Given the description of an element on the screen output the (x, y) to click on. 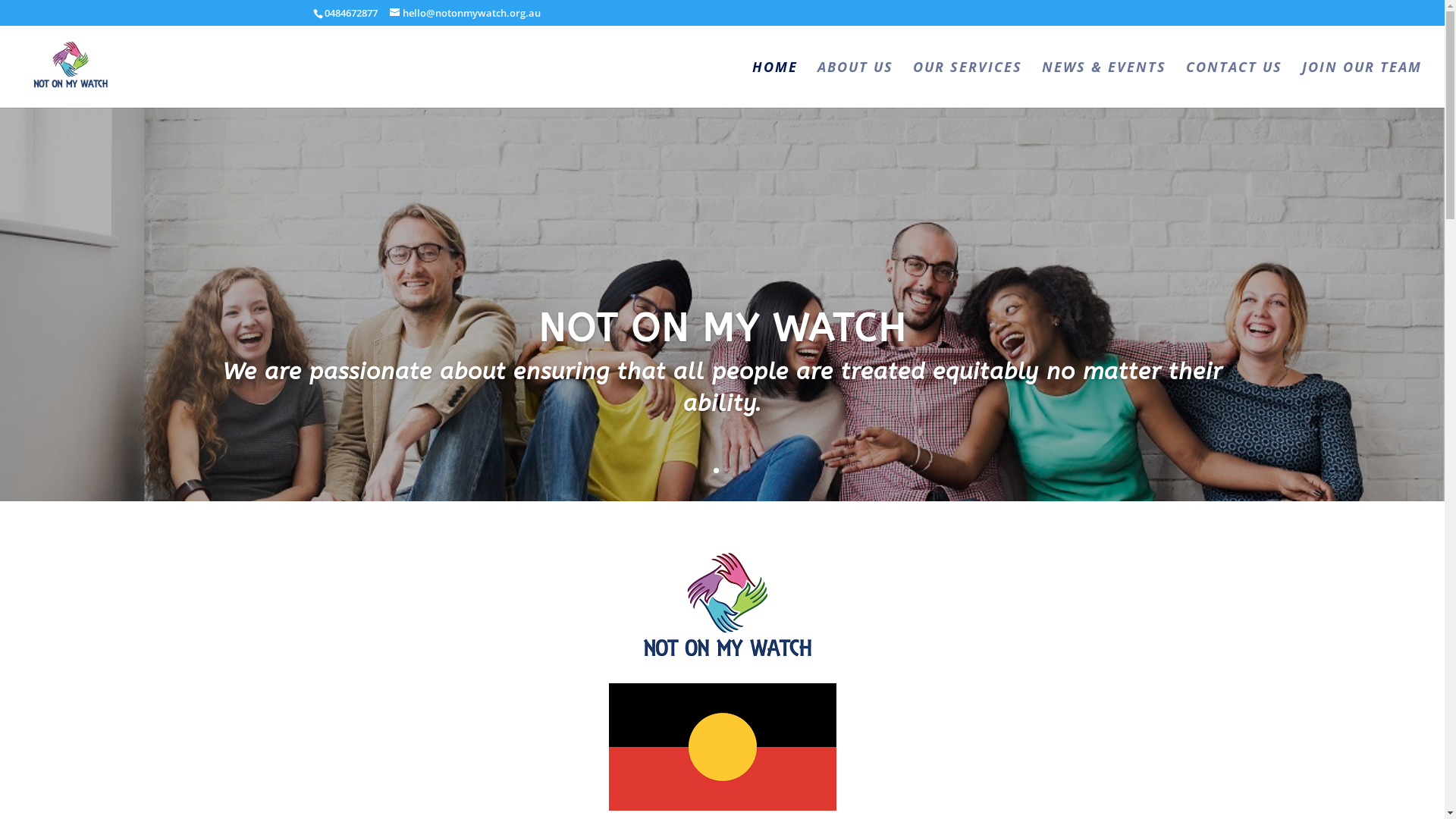
NEWS & EVENTS Element type: text (1103, 83)
HOME Element type: text (774, 83)
logo Element type: hover (722, 602)
ABOUT US Element type: text (855, 83)
CONTACT US Element type: text (1234, 83)
2 Element type: text (728, 470)
hello@notonmywatch.org.au Element type: text (464, 12)
JOIN OUR TEAM Element type: text (1361, 83)
OUR SERVICES Element type: text (967, 83)
1 Element type: text (715, 470)
